Given the description of an element on the screen output the (x, y) to click on. 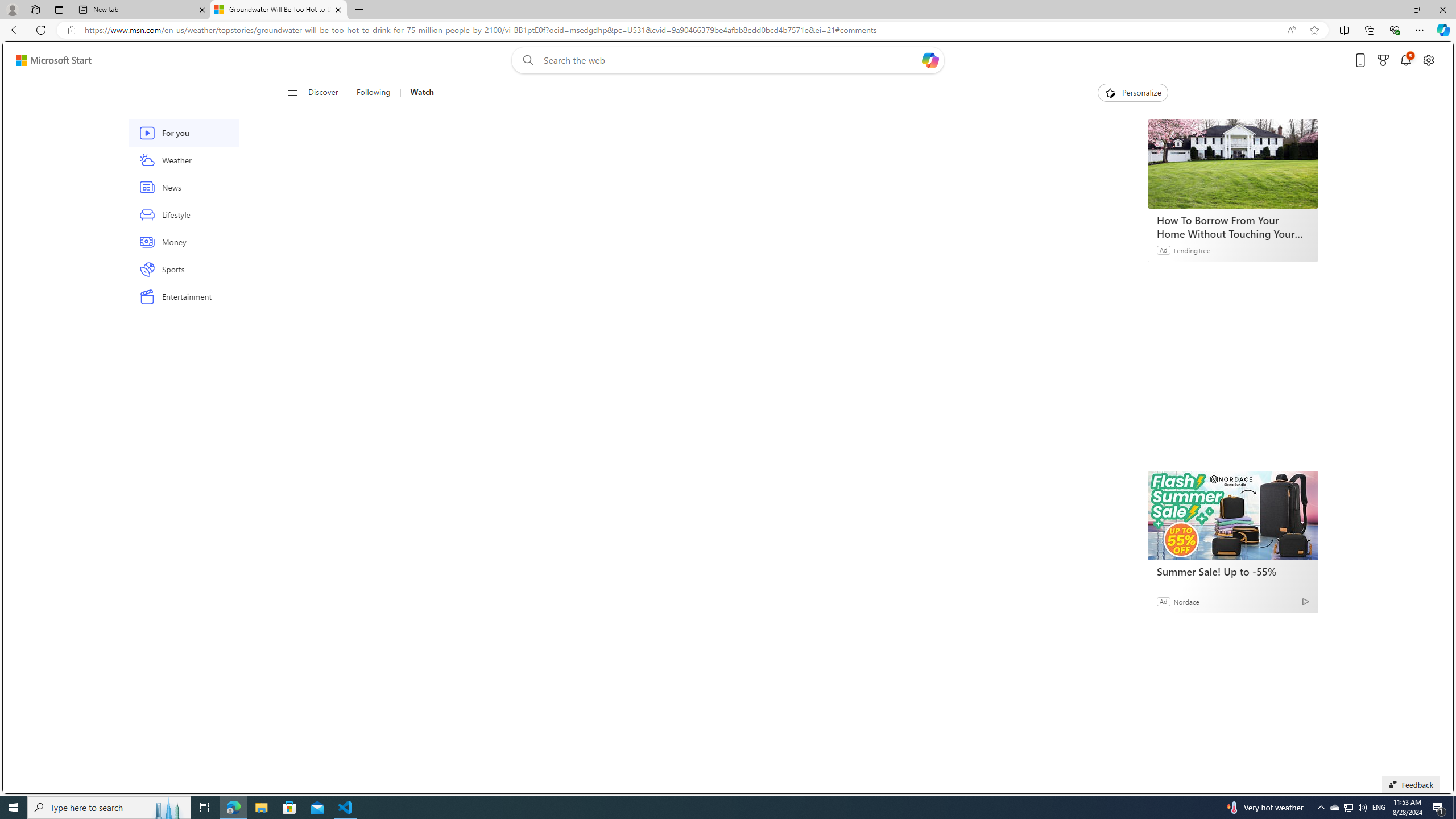
Personalize (1132, 92)
How To Borrow From Your Home Without Touching Your Mortgage (1232, 163)
Open settings (1427, 60)
Web search (526, 60)
Summer Sale! Up to -55% (1232, 515)
Microsoft rewards (1382, 60)
Open navigation menu (292, 92)
